Given the description of an element on the screen output the (x, y) to click on. 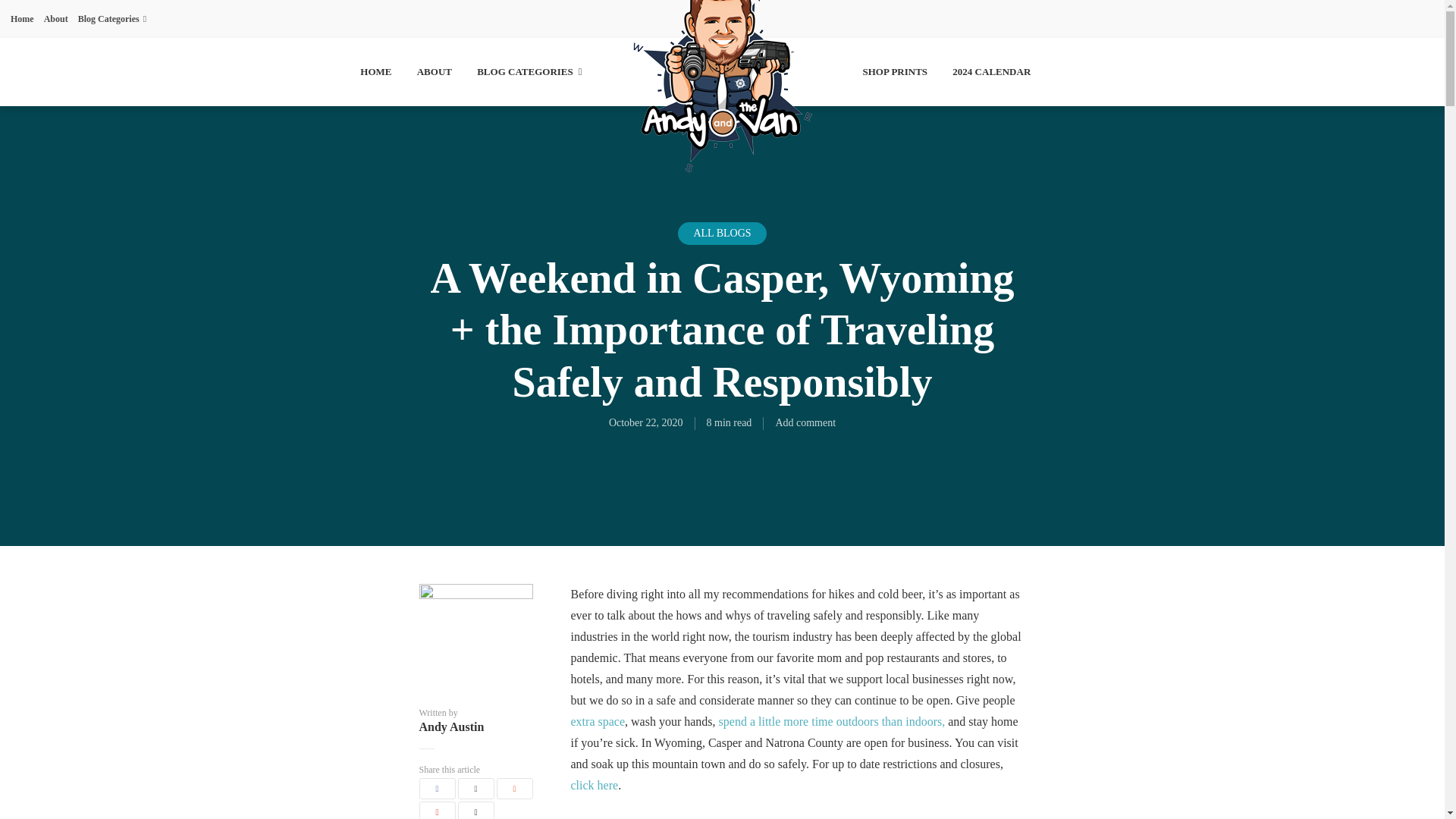
Add comment (804, 422)
Home (21, 18)
BLOG CATEGORIES (528, 72)
Andy Austin (475, 727)
Add comment (804, 422)
SHOP PRINTS (895, 72)
About (55, 18)
ALL BLOGS (721, 232)
Blog Categories (112, 18)
2024 CALENDAR (991, 72)
